Given the description of an element on the screen output the (x, y) to click on. 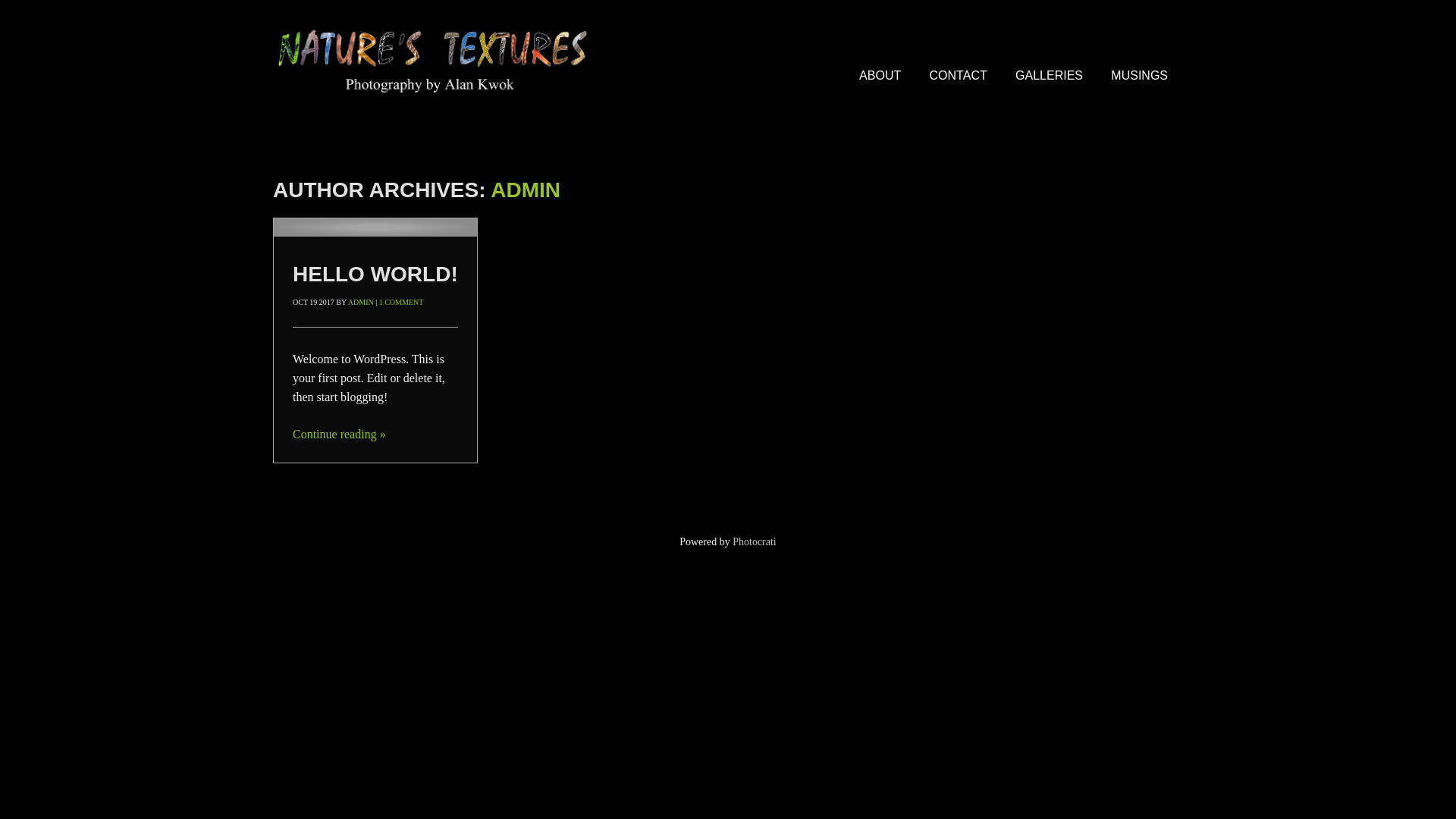
HELLO WORLD! Element type: text (375, 273)
GALLERIES Element type: text (1048, 75)
  Element type: text (374, 227)
ADMIN Element type: text (360, 302)
MUSINGS Element type: text (1139, 75)
ADMIN Element type: text (525, 189)
CONTACT Element type: text (958, 75)
Photocrati Element type: text (754, 541)
ABOUT Element type: text (879, 75)
1 COMMENT Element type: text (401, 302)
